Given the description of an element on the screen output the (x, y) to click on. 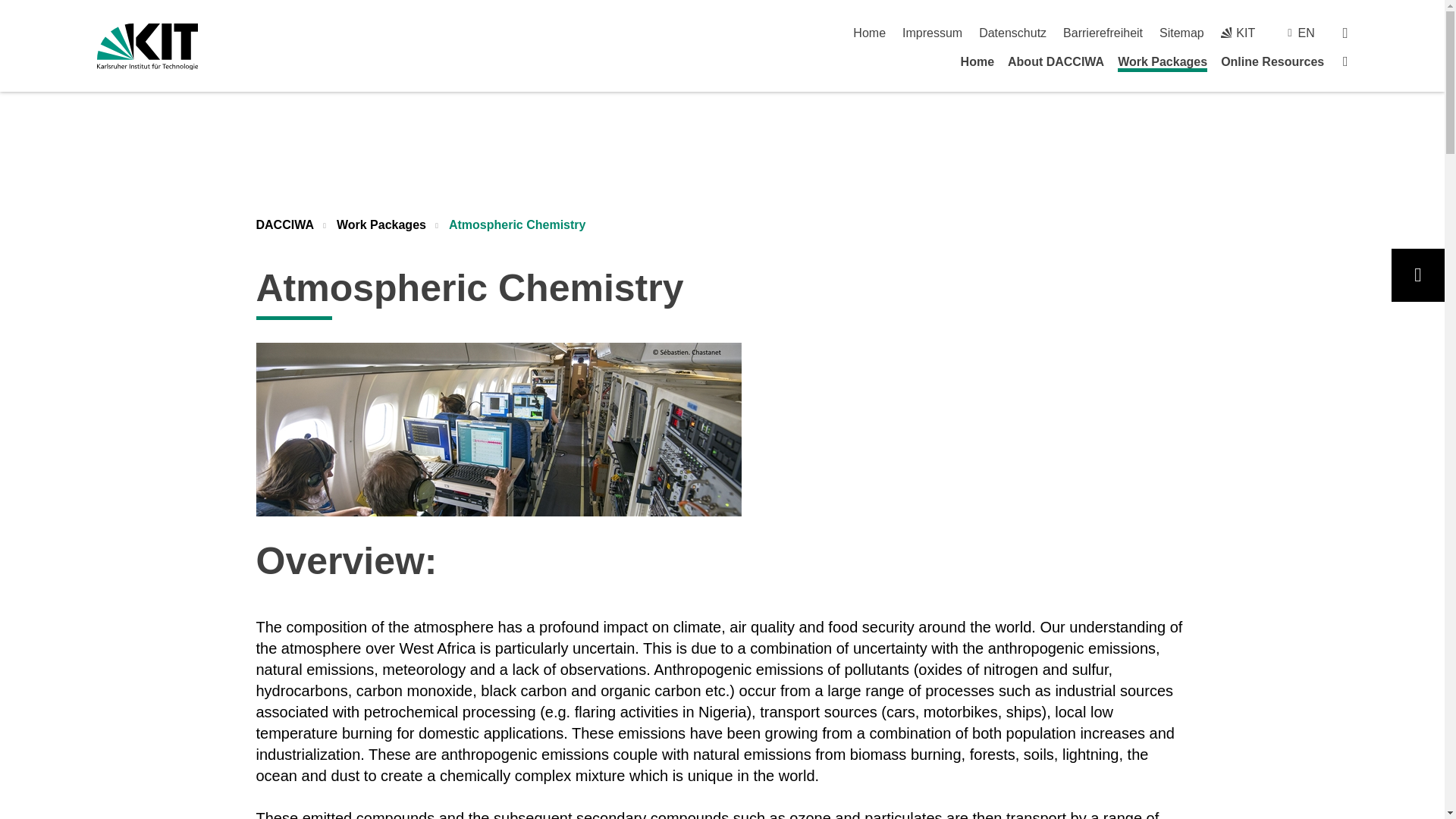
Home (977, 61)
Startseite (869, 32)
KIT (1238, 32)
Online Resources (1272, 61)
Barrierefreiheit (1102, 32)
Work Packages (1162, 63)
Home (869, 32)
Datenschutz (1012, 32)
About DACCIWA (1055, 61)
EN (1305, 32)
KIT-Homepage (1238, 32)
KIT-Homepage (147, 46)
Sitemap (1181, 32)
Impressum (932, 32)
